Given the description of an element on the screen output the (x, y) to click on. 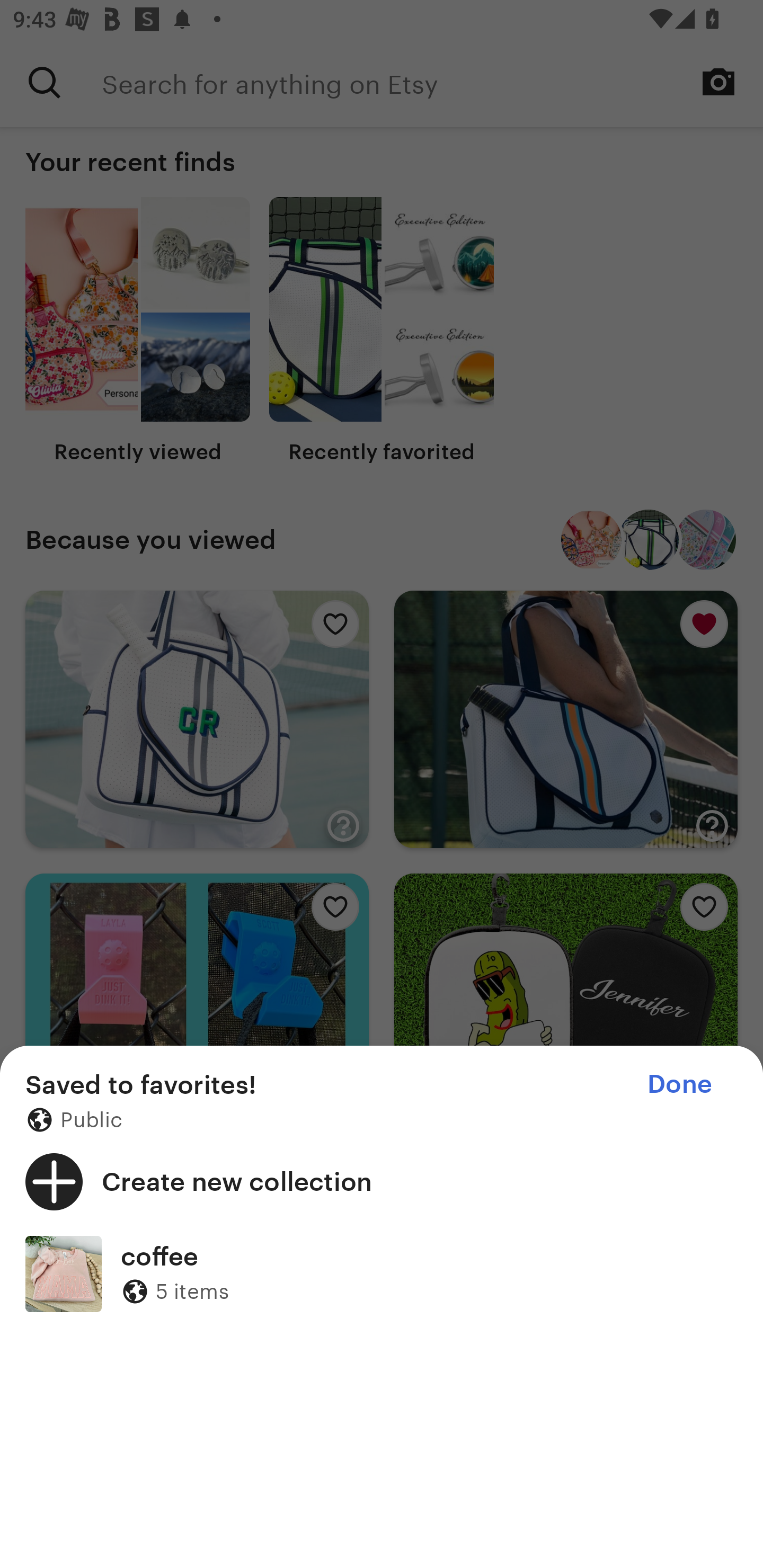
Done (679, 1083)
Create new collection (381, 1181)
coffee 5 items (381, 1273)
